Given the description of an element on the screen output the (x, y) to click on. 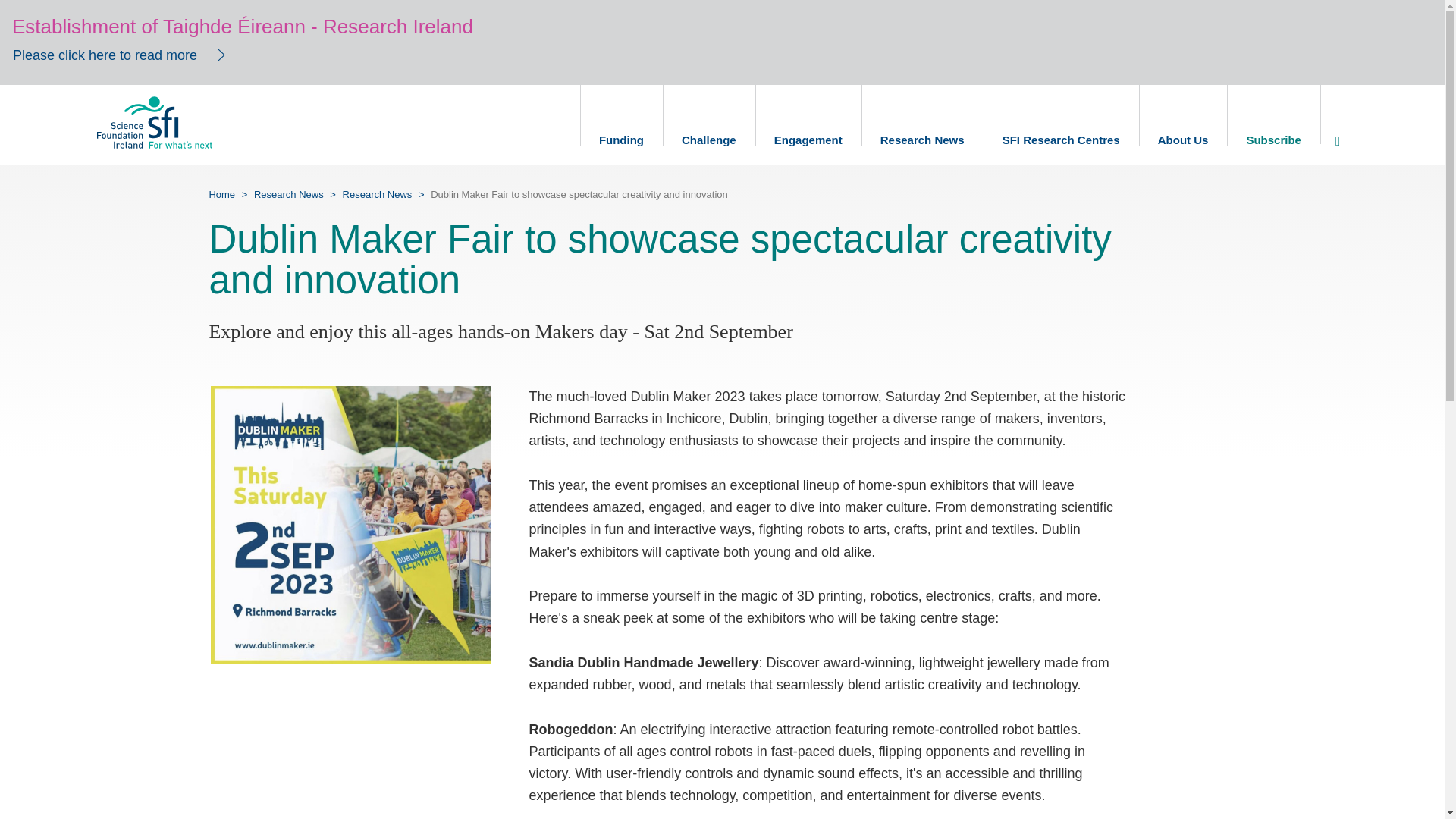
Funding (620, 124)
Engagement (808, 124)
Please click here to read more (121, 56)
Challenge (708, 124)
